Given the description of an element on the screen output the (x, y) to click on. 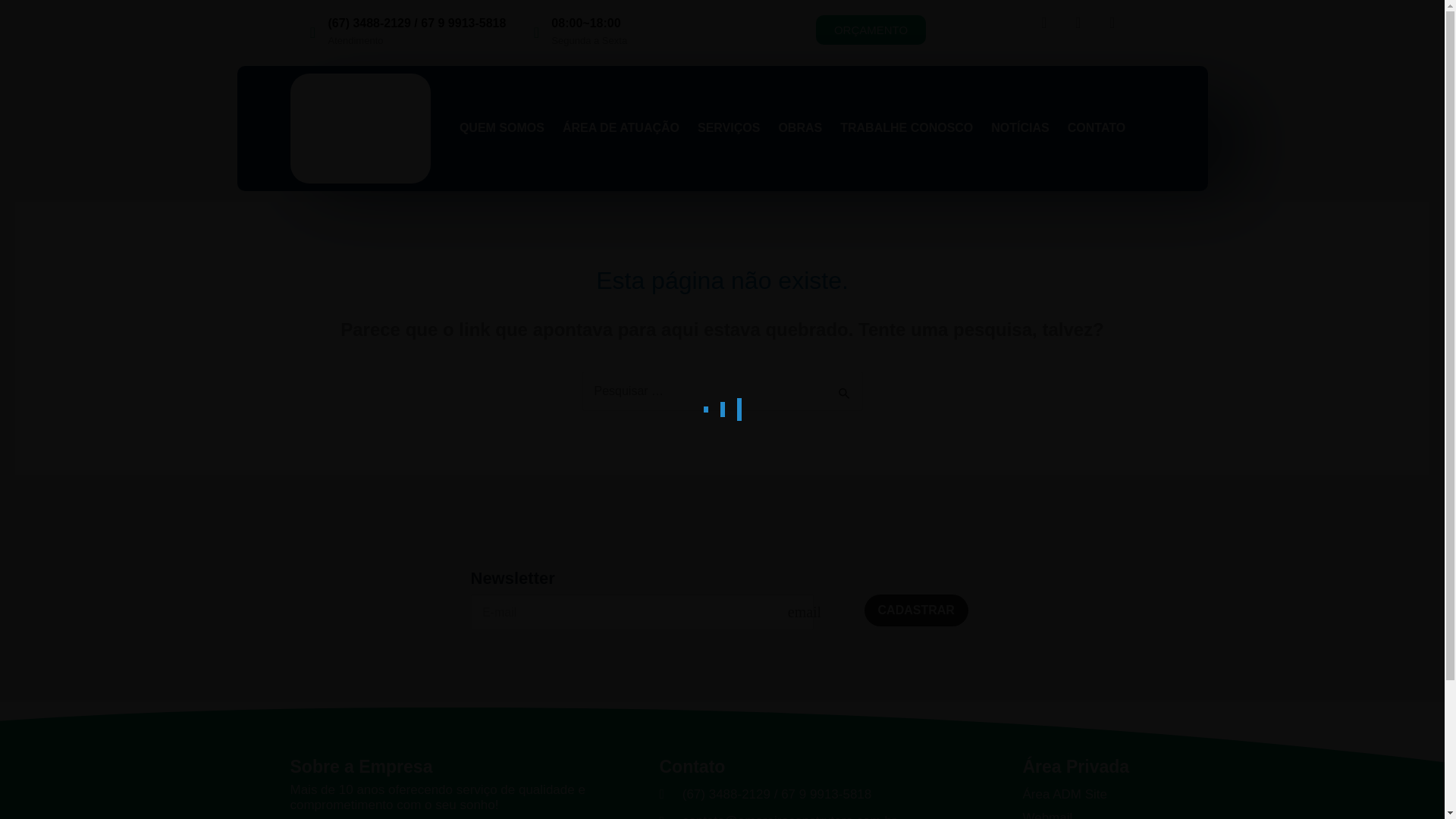
QUEM SOMOS (502, 127)
TRABALHE CONOSCO (906, 127)
OBRAS (800, 127)
CONTATO (1095, 127)
